Given the description of an element on the screen output the (x, y) to click on. 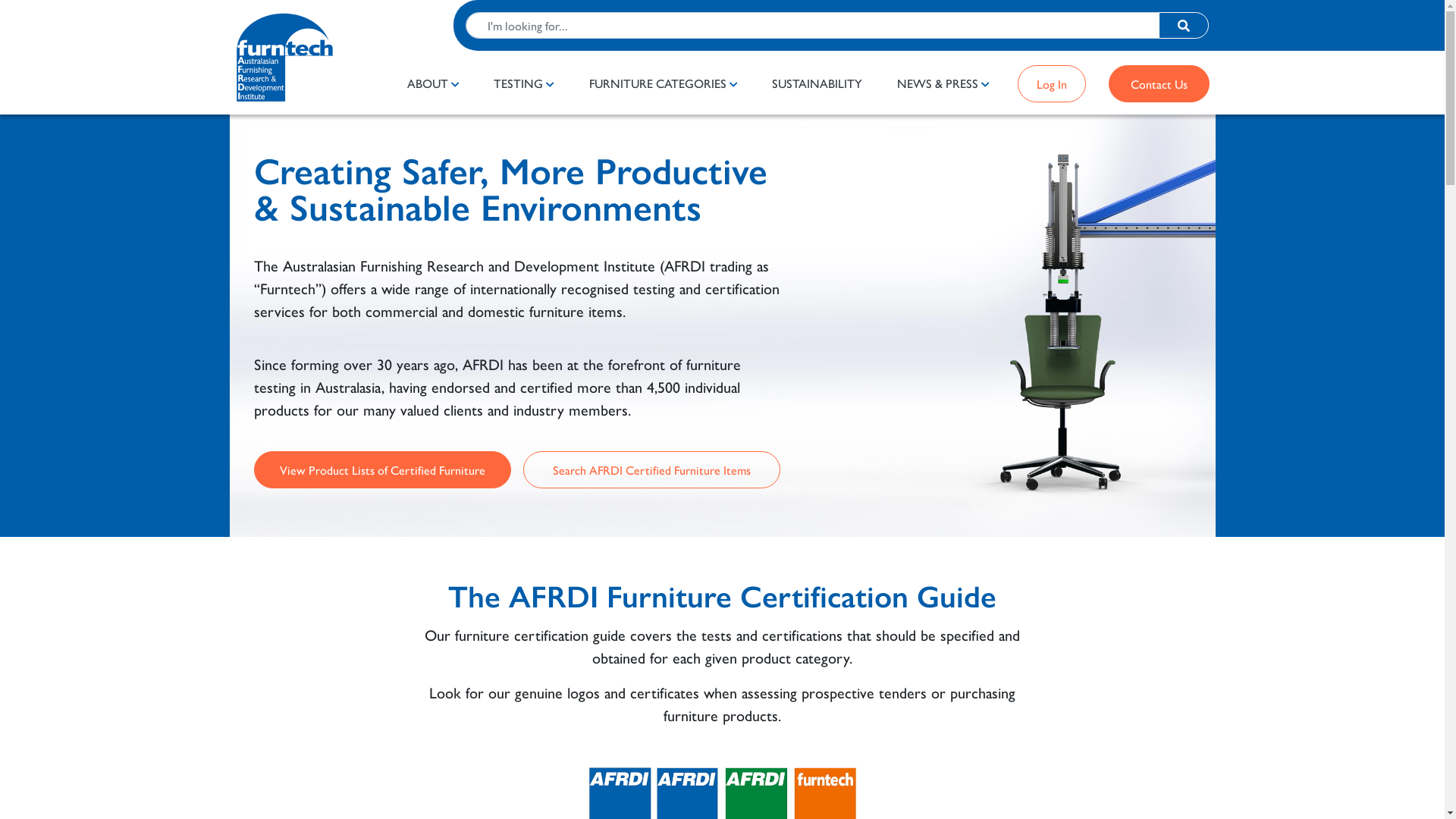
TESTING Element type: text (523, 83)
FURNITURE CATEGORIES Element type: text (662, 83)
View Product Lists of Certified Furniture Element type: text (381, 469)
Log In Element type: text (1051, 83)
NEWS & PRESS Element type: text (942, 83)
Contact Us Element type: text (1158, 83)
ABOUT Element type: text (432, 83)
SUSTAINABILITY Element type: text (816, 83)
Search AFRDI Certified Furniture Items Element type: text (651, 469)
